Given the description of an element on the screen output the (x, y) to click on. 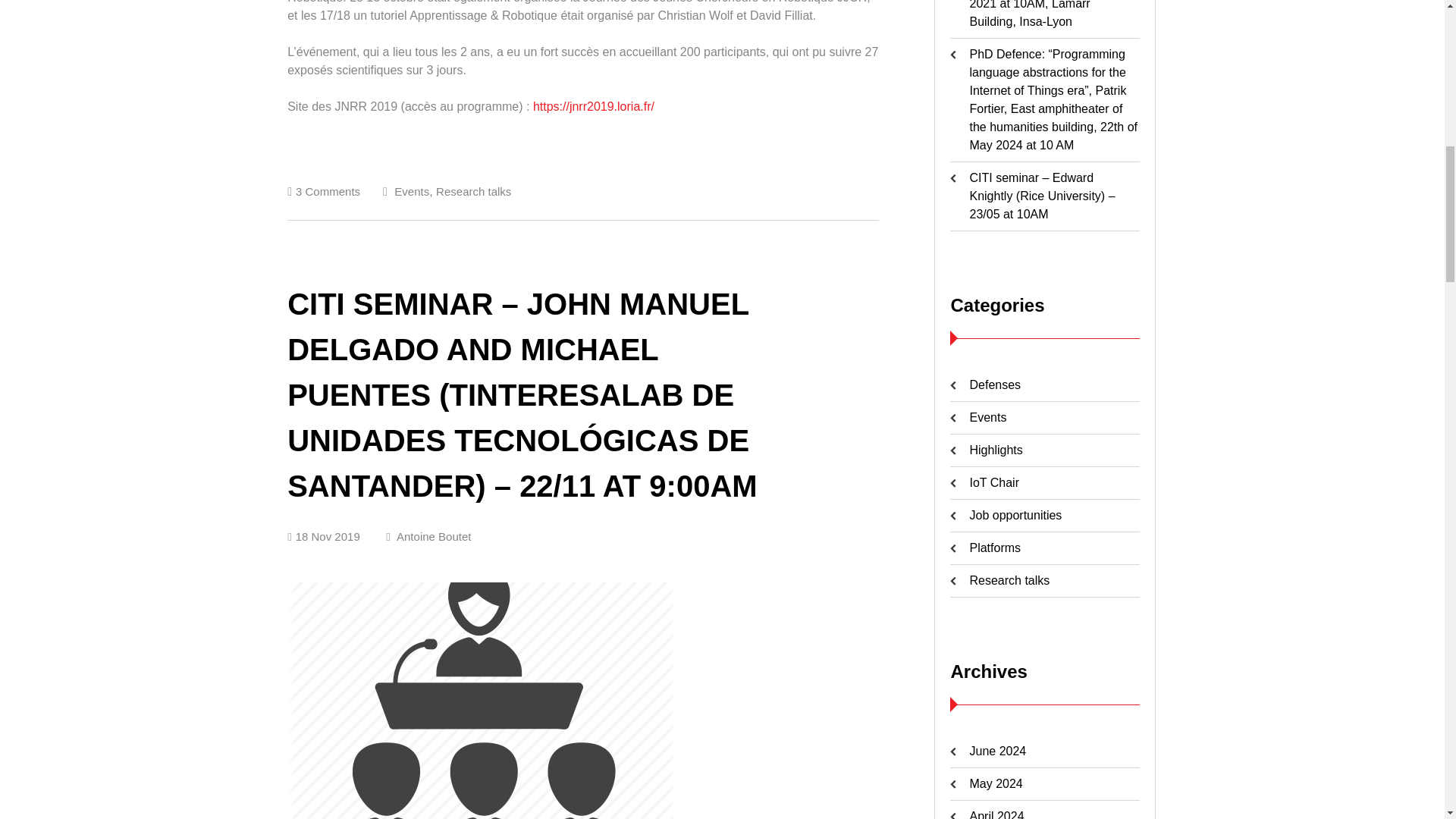
Antoine Boutet (427, 535)
Research talks (473, 191)
3 Comments (327, 191)
18 Nov 2019 (322, 535)
Events (411, 191)
